Given the description of an element on the screen output the (x, y) to click on. 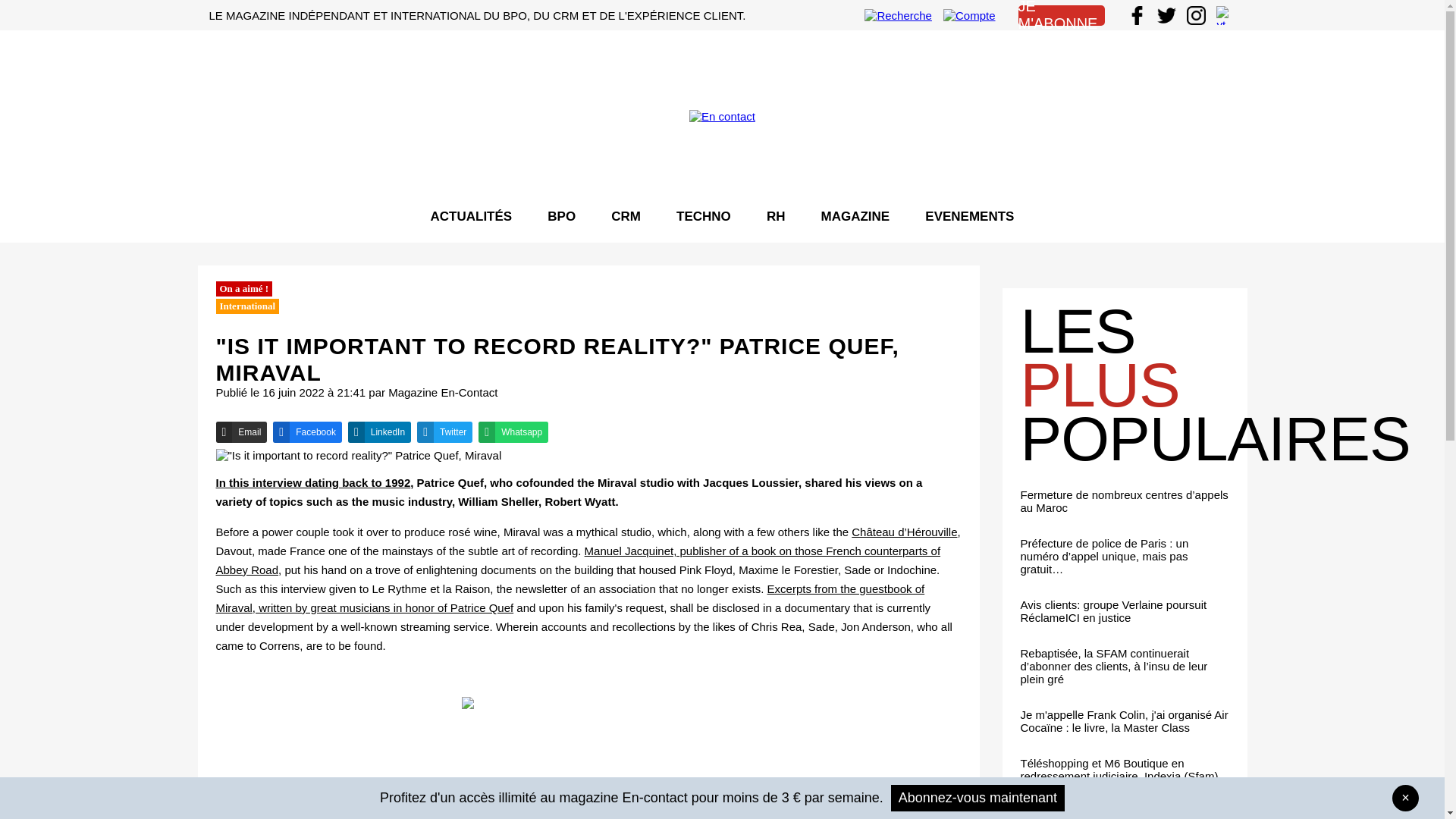
LinkedIn (474, 540)
Facebook (383, 540)
EVENEMENTS (968, 216)
"Is it important to record reality?" Patrice Quef, Miraval (357, 454)
JE M'ABONNE (1060, 14)
Whatsapp (641, 540)
In this interview dating back to 1992 (312, 481)
TECHNO (703, 216)
MAGAZINE (855, 216)
Email (301, 540)
Twitter (556, 540)
International (247, 305)
